Given the description of an element on the screen output the (x, y) to click on. 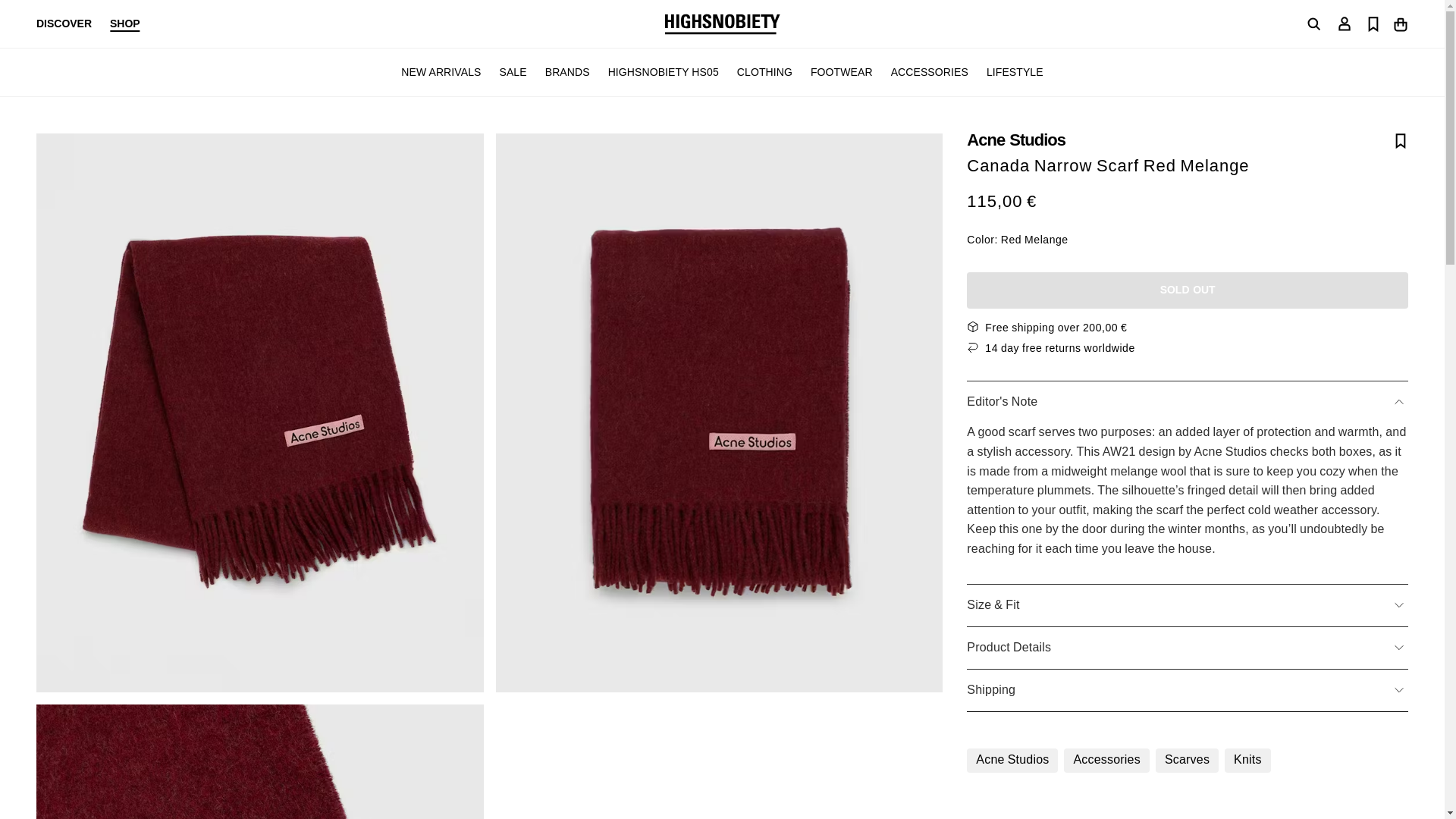
Go To Search (1314, 23)
Go To Account (1344, 23)
Go To Shopping Cart (1400, 23)
Highsnobiety (720, 24)
Go To Saved (1372, 23)
